Given the description of an element on the screen output the (x, y) to click on. 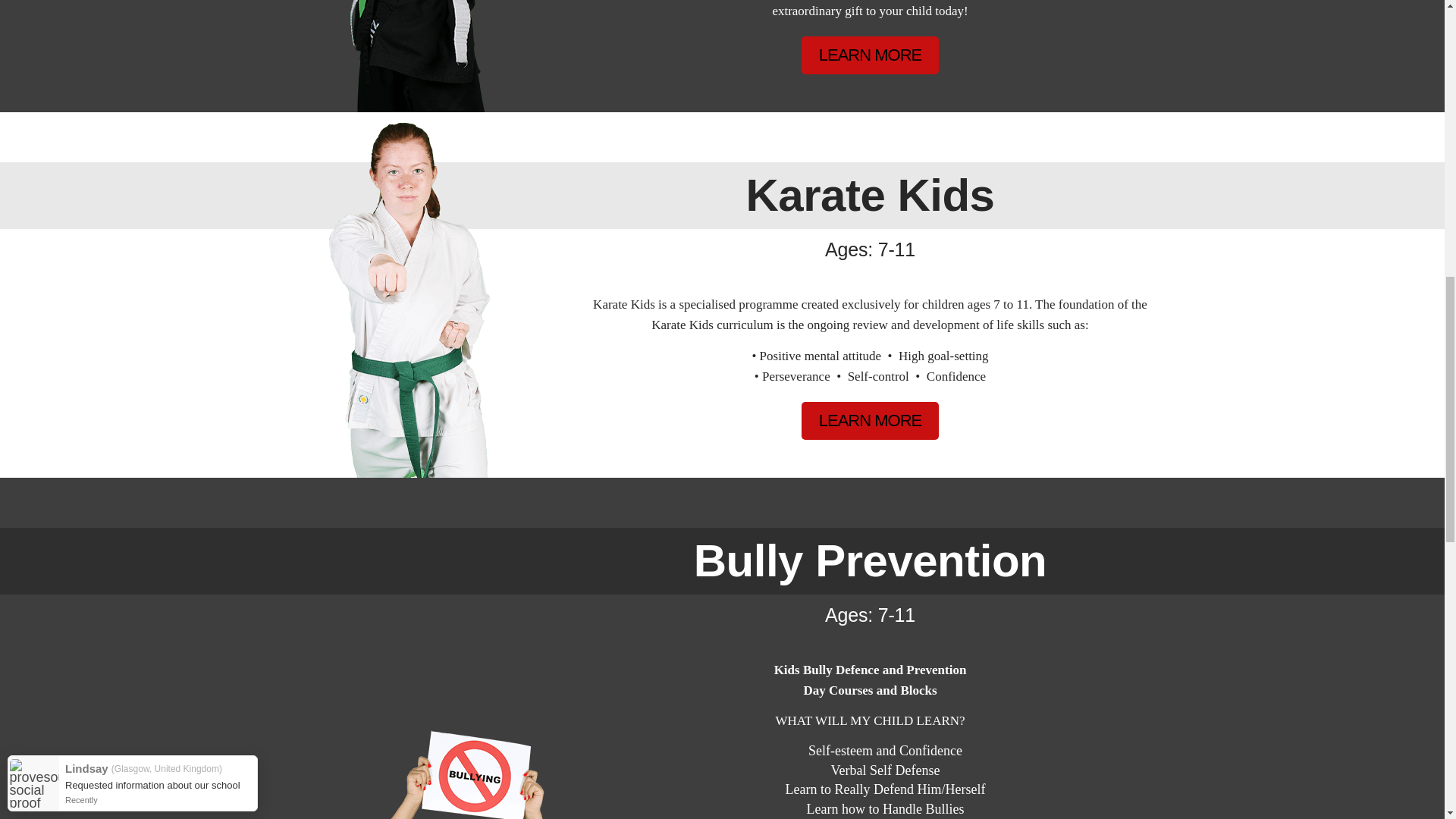
LEARN MORE (870, 55)
